Given the description of an element on the screen output the (x, y) to click on. 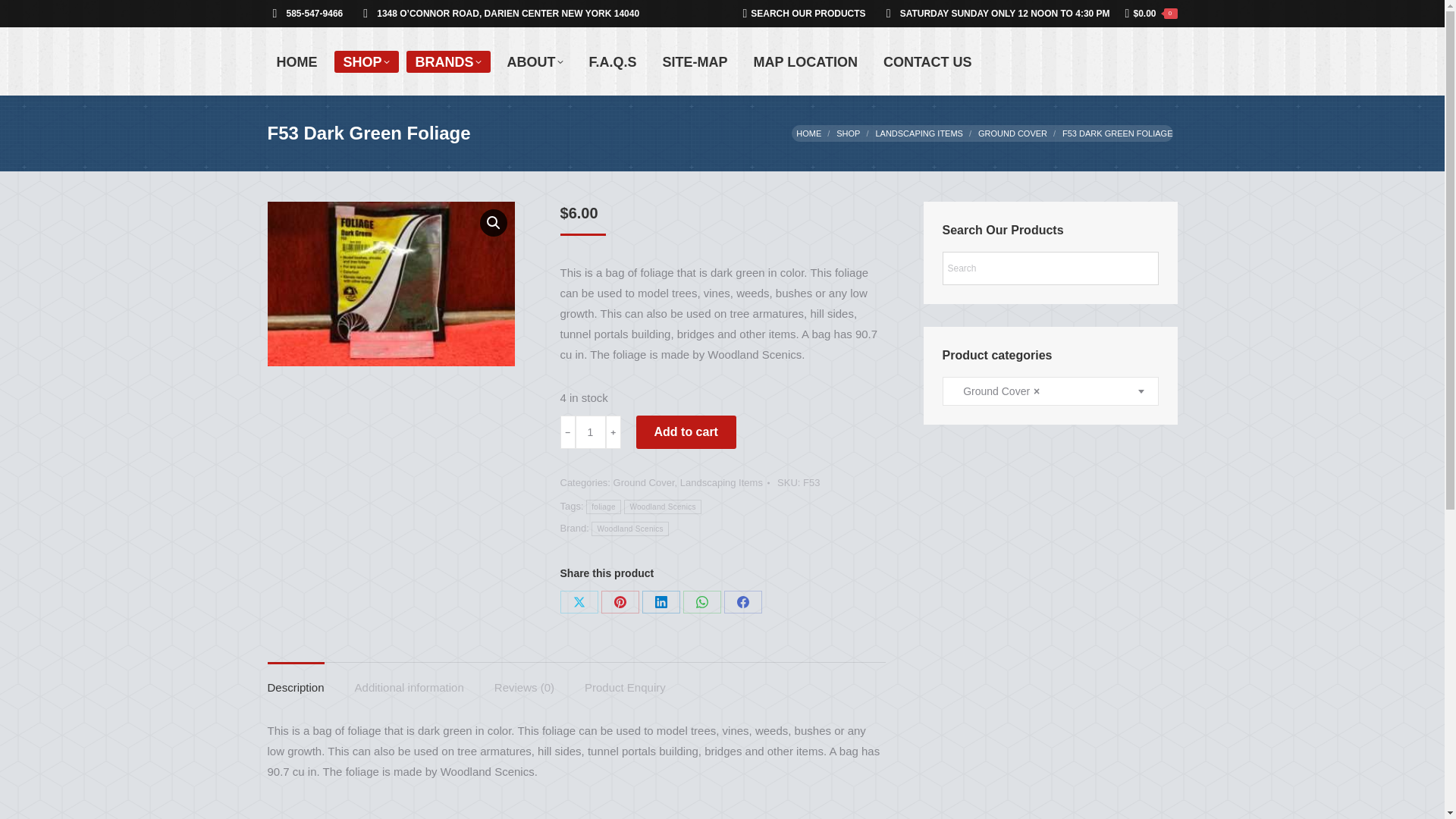
Ground Cover (1012, 133)
SHOP (365, 60)
Shop (847, 133)
LinkedIn (660, 601)
Landscaping Items (918, 133)
1 (590, 431)
Go! (22, 15)
F53-dnltoytrains (389, 283)
WhatsApp (701, 601)
SEARCH OUR PRODUCTS (803, 13)
Pinterest (619, 601)
Facebook (742, 601)
Home (808, 133)
HOME (296, 60)
